Given the description of an element on the screen output the (x, y) to click on. 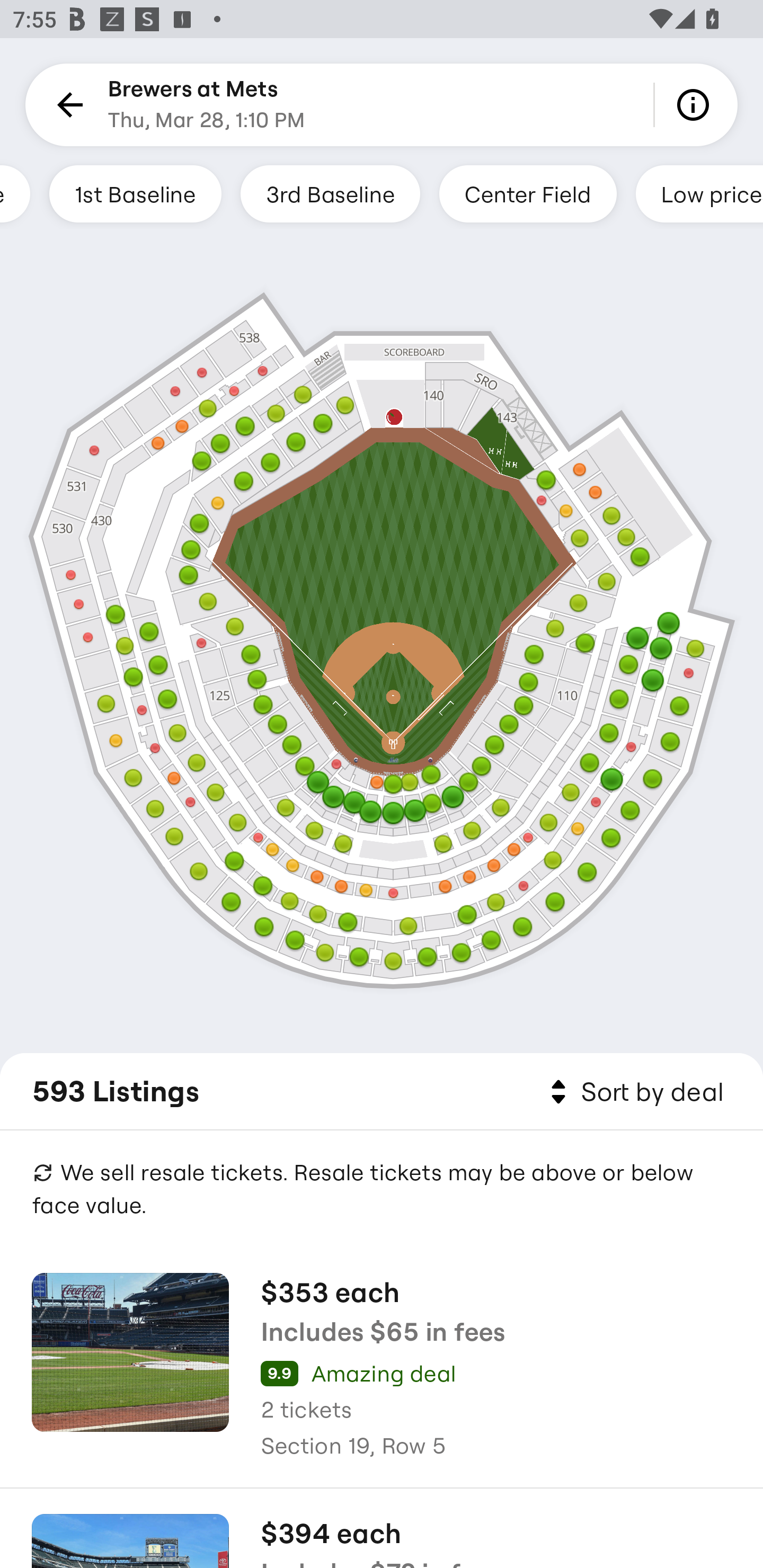
Back (66, 104)
Brewers at Mets Thu, Mar 28, 1:10 PM (206, 104)
Info (695, 104)
1st Baseline (135, 193)
3rd Baseline (330, 193)
Center Field (527, 193)
Low prices (699, 193)
Sort by deal (633, 1091)
